Given the description of an element on the screen output the (x, y) to click on. 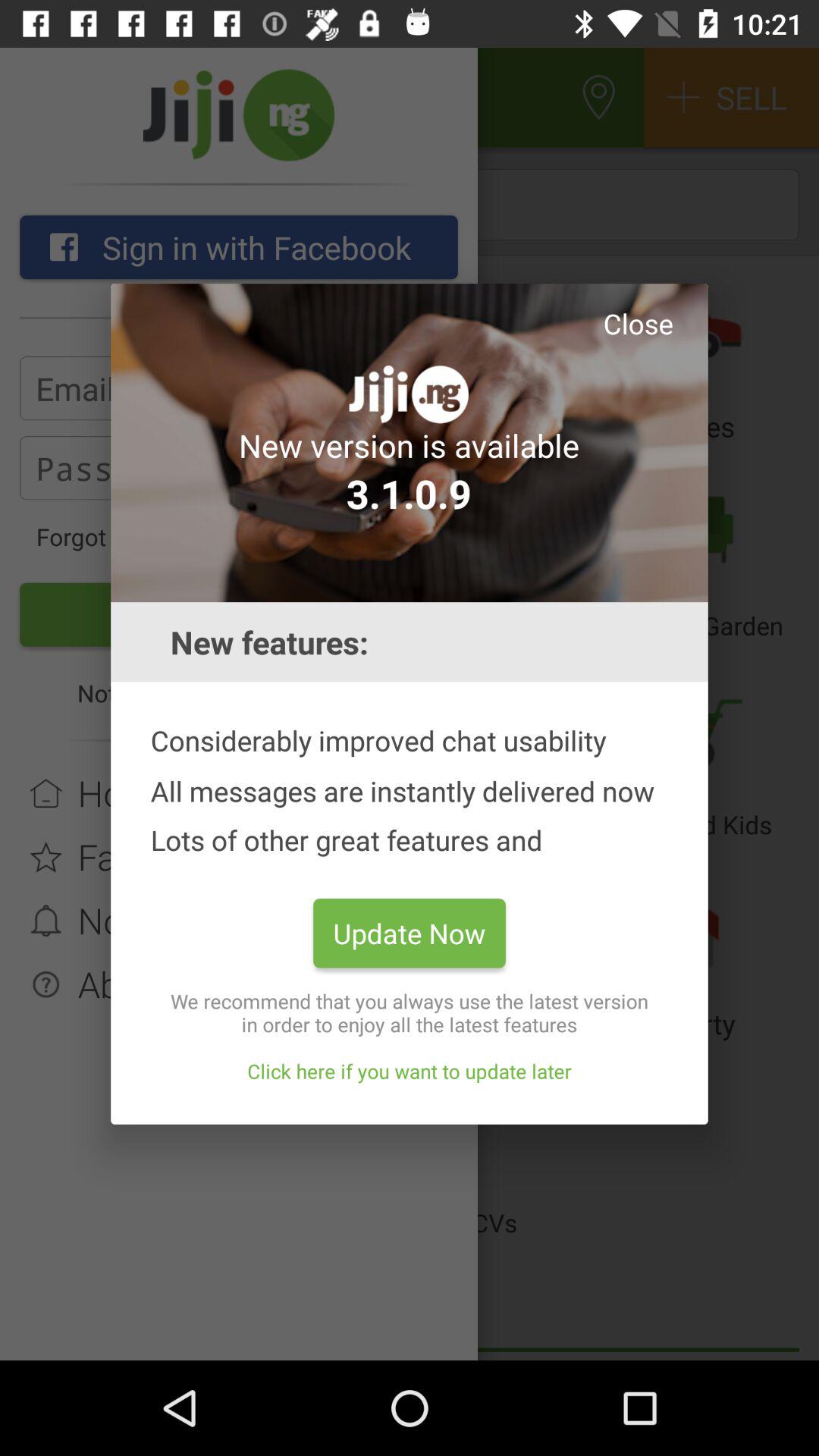
flip to update now button (409, 933)
